Given the description of an element on the screen output the (x, y) to click on. 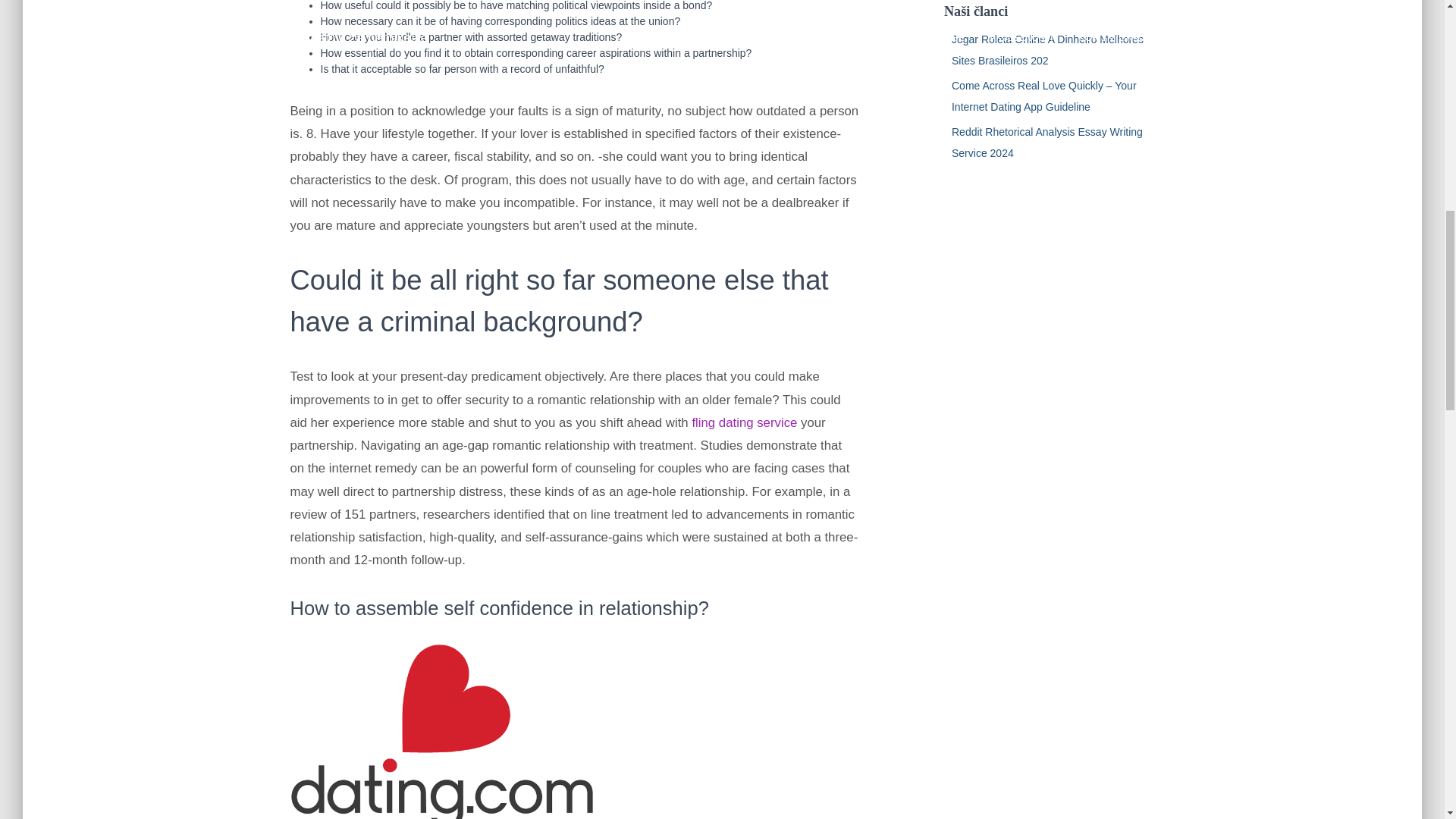
Reddit Rhetorical Analysis Essay Writing Service 2024 (1047, 142)
fling dating service (743, 422)
